Given the description of an element on the screen output the (x, y) to click on. 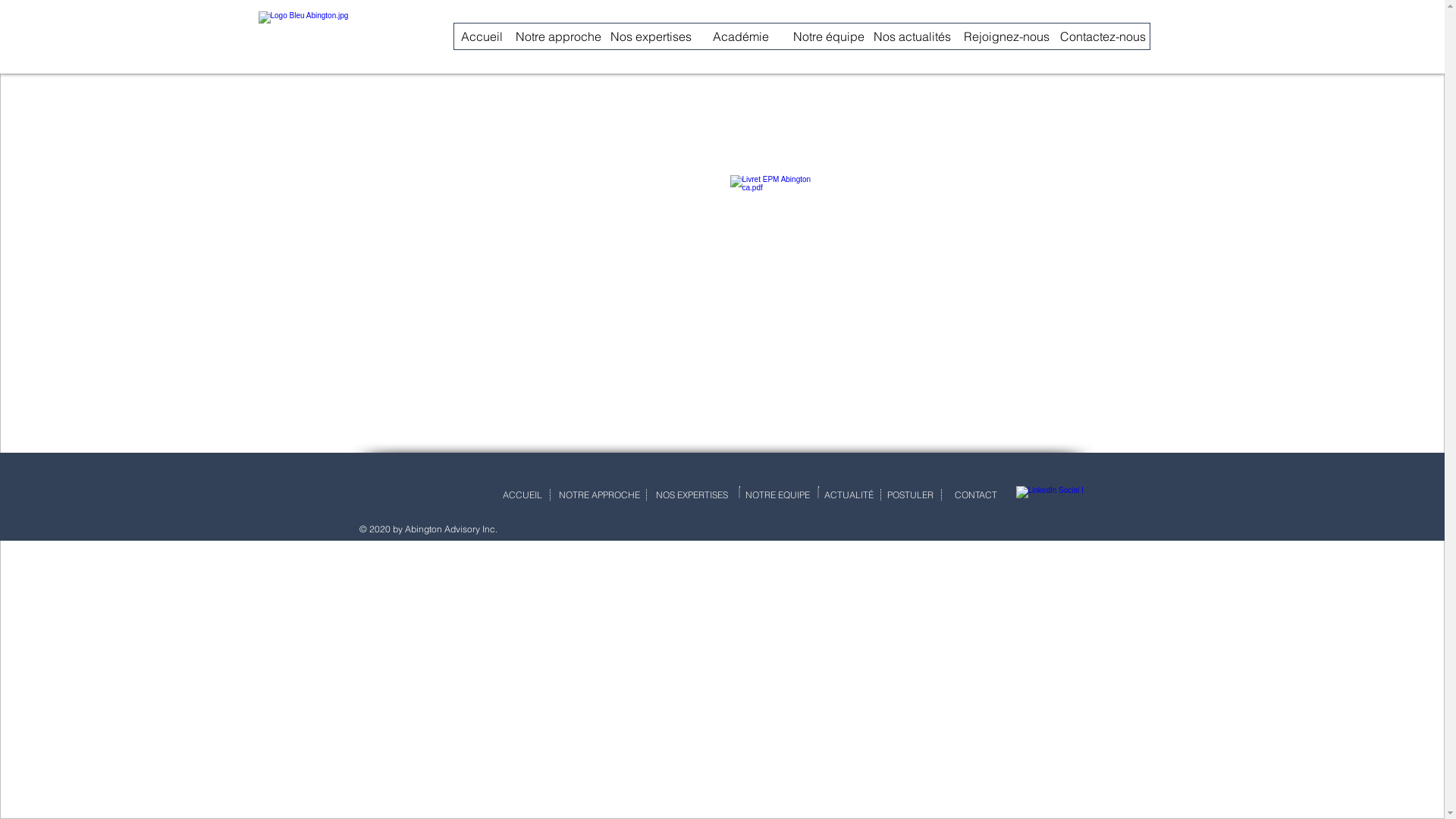
Livret EPM Abington ca.pdf Element type: hover (778, 222)
NOTRE APPROCHE Element type: text (598, 495)
Contactez-nous Element type: text (1102, 36)
POSTULER Element type: text (910, 495)
NOTRE EQUIPE Element type: text (777, 495)
Nos expertises Element type: text (650, 36)
ACCUEIL Element type: text (521, 495)
Accueil Element type: text (480, 36)
NOS EXPERTISES Element type: text (692, 495)
CONTACT Element type: text (975, 495)
Rejoignez-nous Element type: text (1006, 36)
Notre approche Element type: text (558, 36)
